Given the description of an element on the screen output the (x, y) to click on. 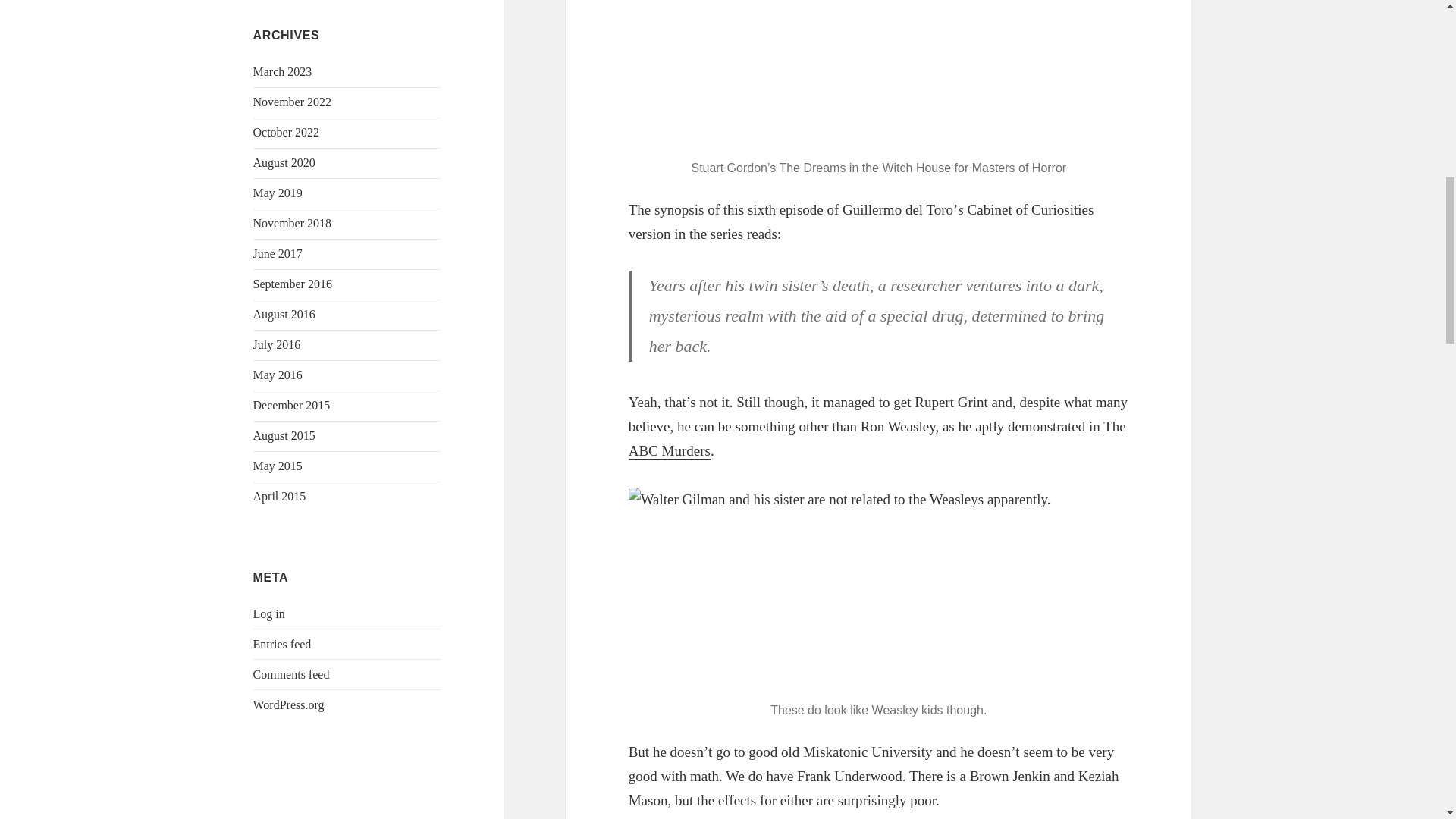
July 2016 (277, 344)
The ABC Murders (876, 438)
September 2016 (292, 283)
March 2023 (283, 71)
August 2015 (284, 435)
December 2015 (291, 404)
Entries feed (282, 644)
November 2022 (292, 101)
May 2015 (277, 465)
Comments feed (291, 674)
